Given the description of an element on the screen output the (x, y) to click on. 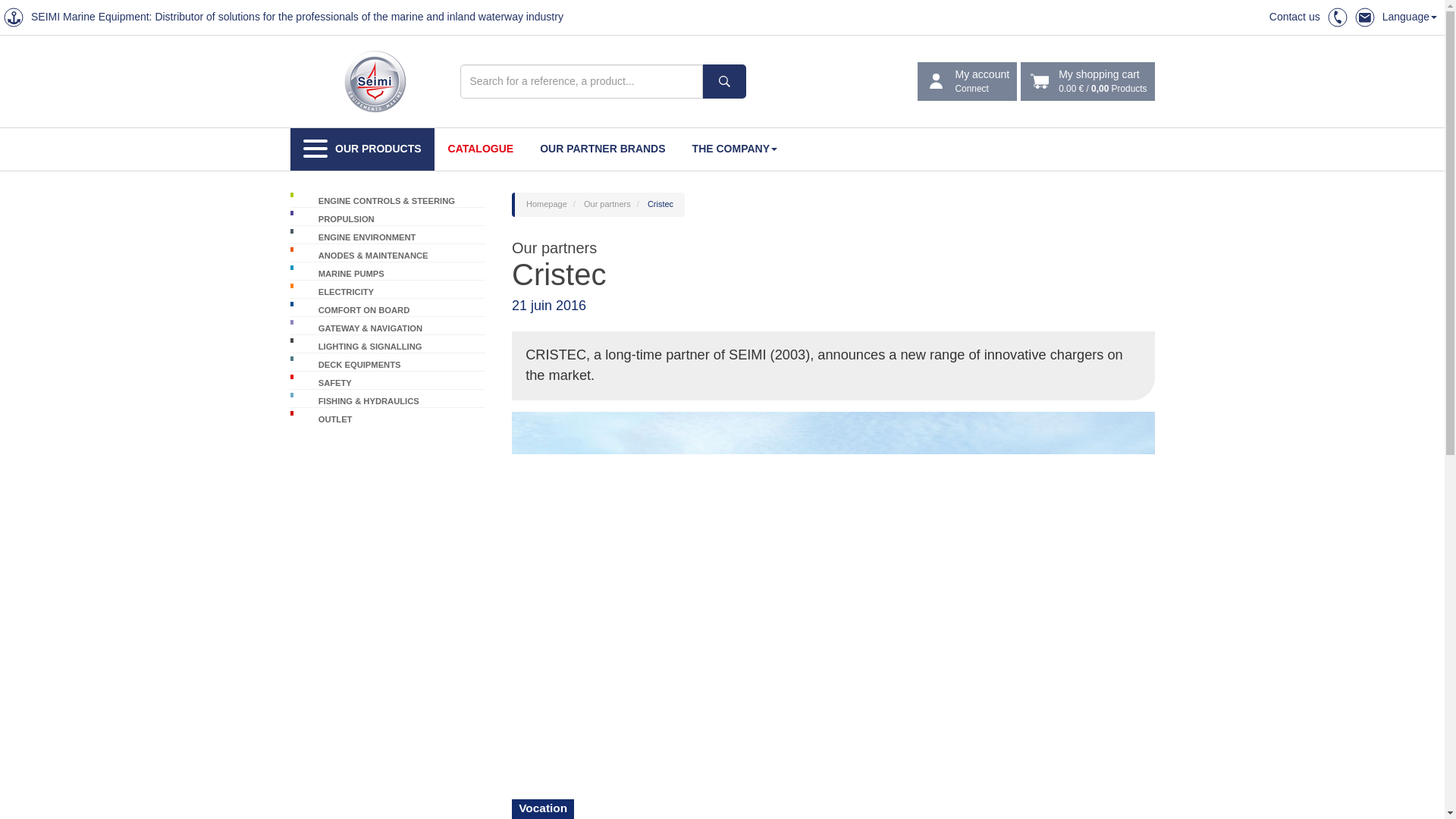
OUR PARTNER BRANDS (967, 81)
Contact us (602, 148)
THE COMPANY (1294, 16)
Language (734, 148)
CATALOGUE (1409, 16)
OUR PRODUCTS (480, 148)
